Given the description of an element on the screen output the (x, y) to click on. 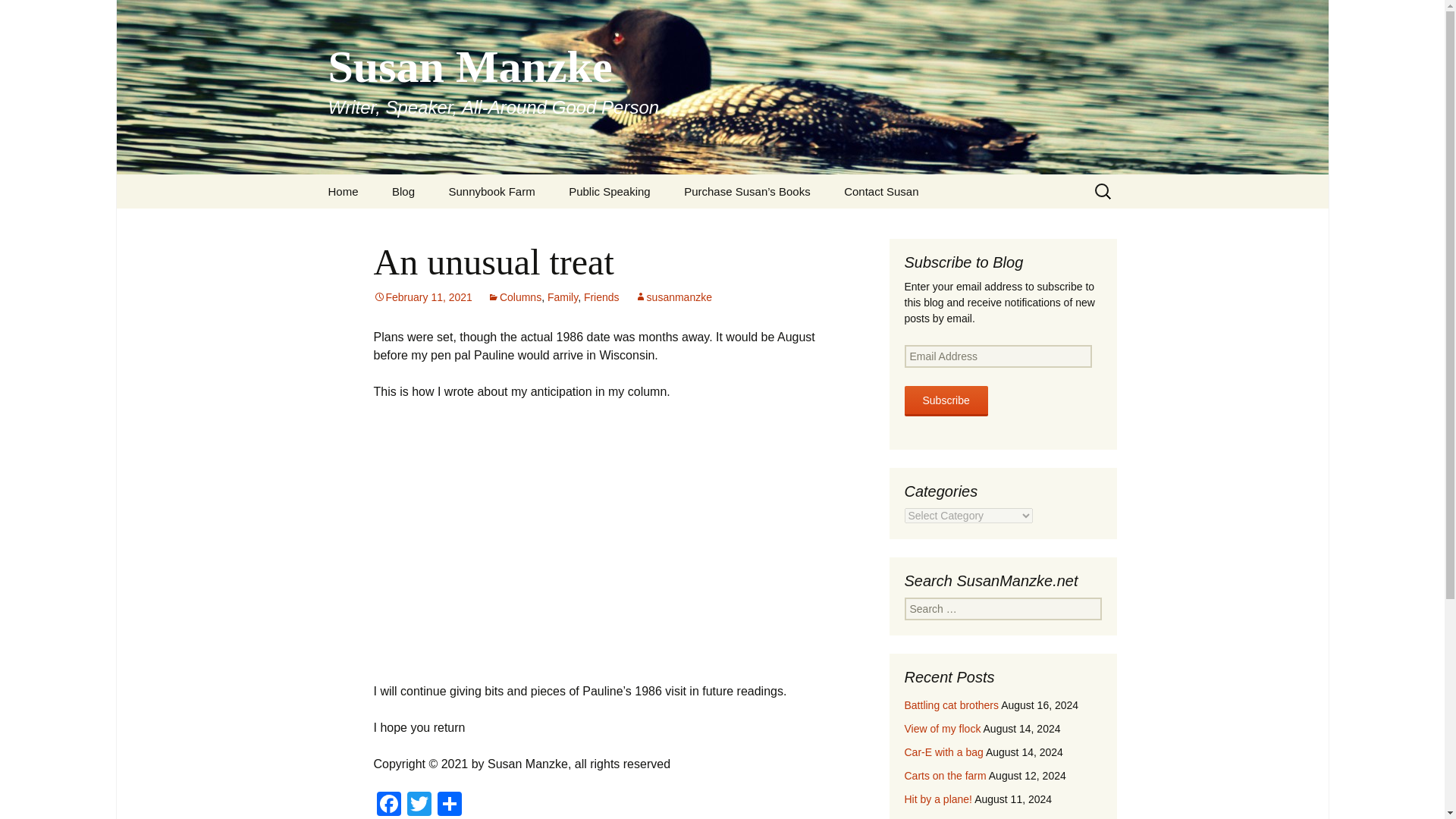
Friends (601, 297)
View all posts by susanmanzke (672, 297)
Blog (403, 191)
Search (18, 15)
February 11, 2021 (562, 297)
